Given the description of an element on the screen output the (x, y) to click on. 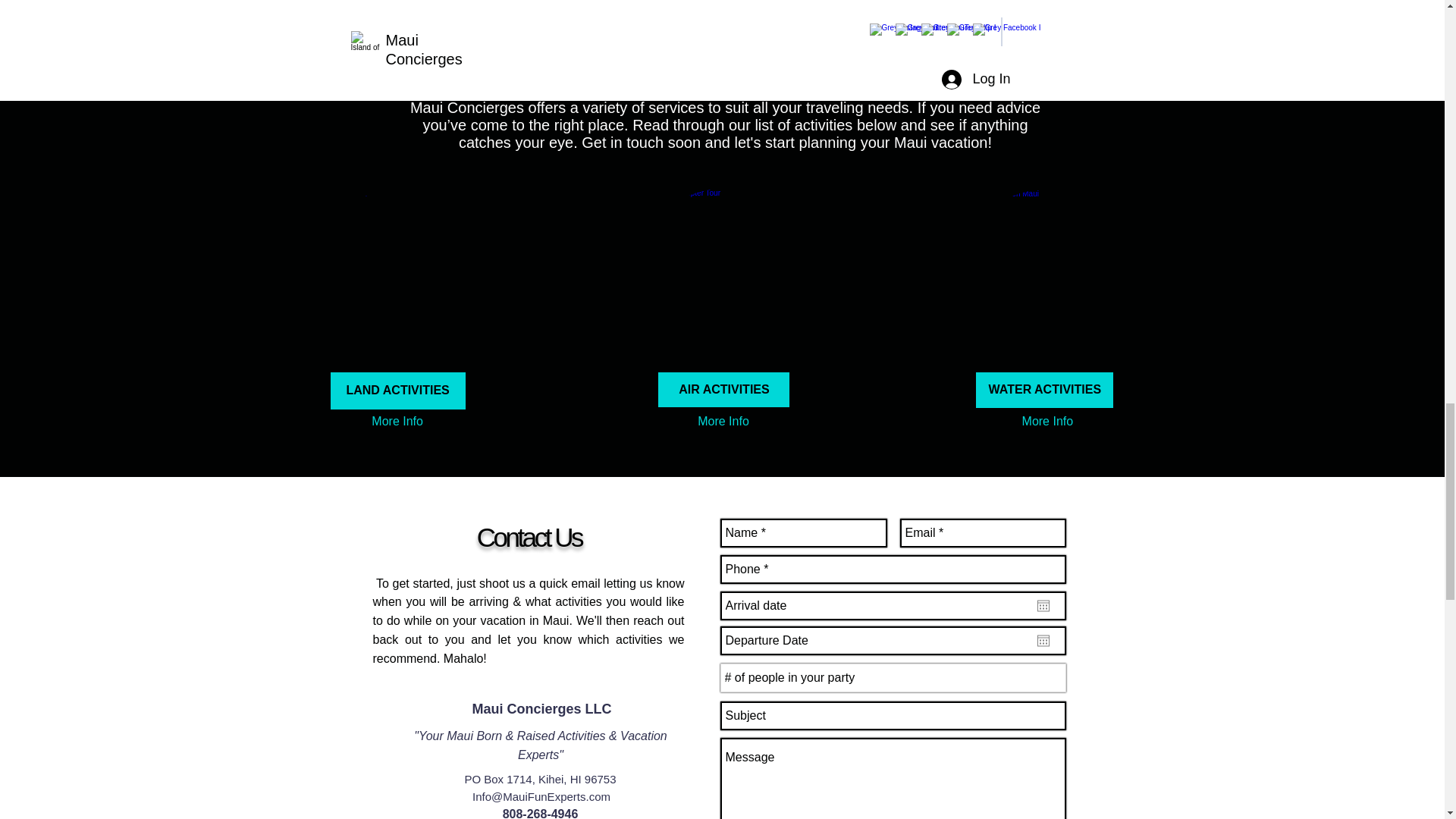
WATER ACTIVITIES (1044, 390)
More Info (722, 421)
AIR ACTIVITIES (724, 389)
LAND ACTIVITIES (398, 390)
More Info (398, 421)
808-268-4946 (540, 813)
P1010145.JPG (722, 272)
More Info (1046, 421)
